Given the description of an element on the screen output the (x, y) to click on. 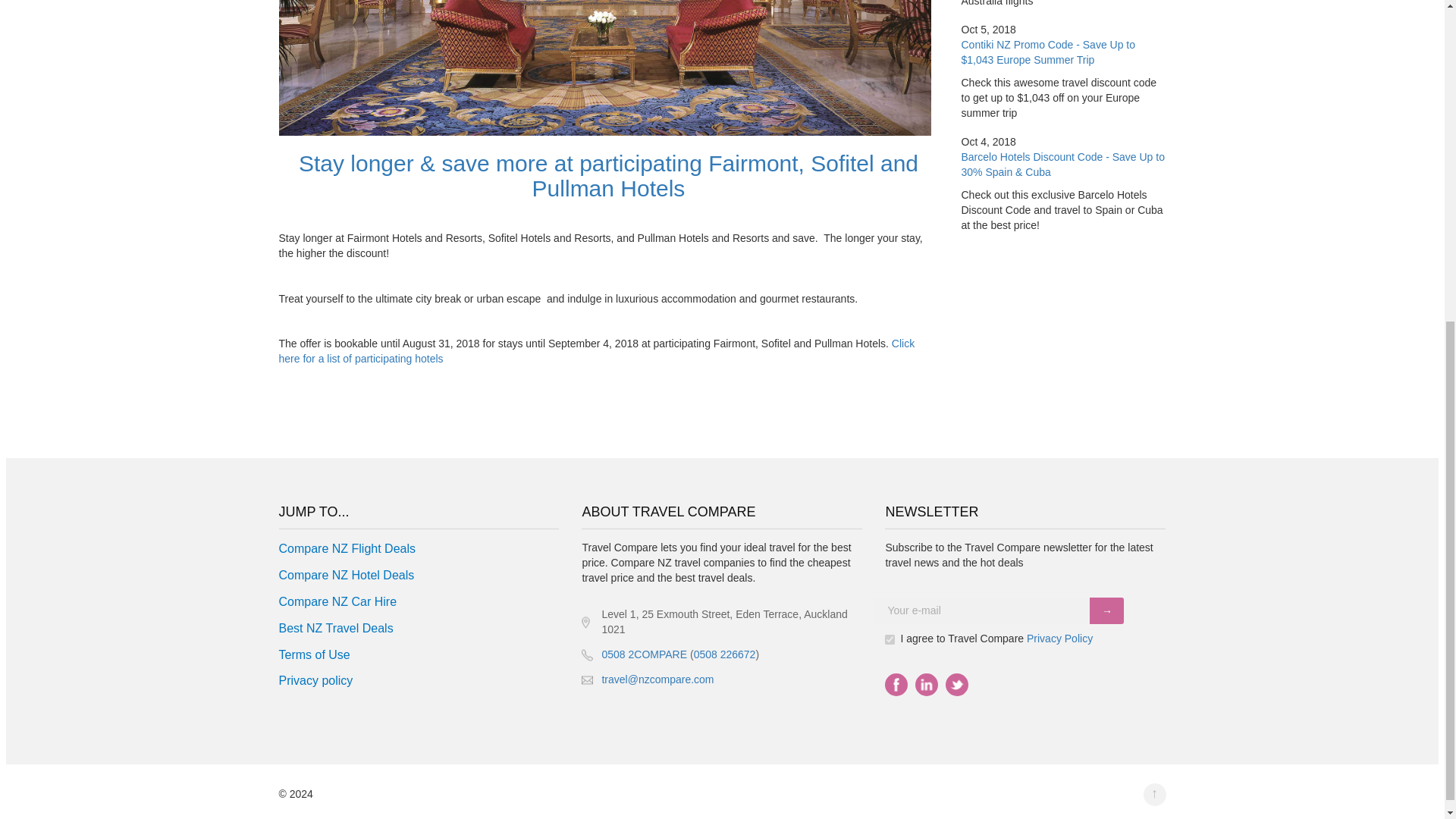
1 (890, 639)
